Given the description of an element on the screen output the (x, y) to click on. 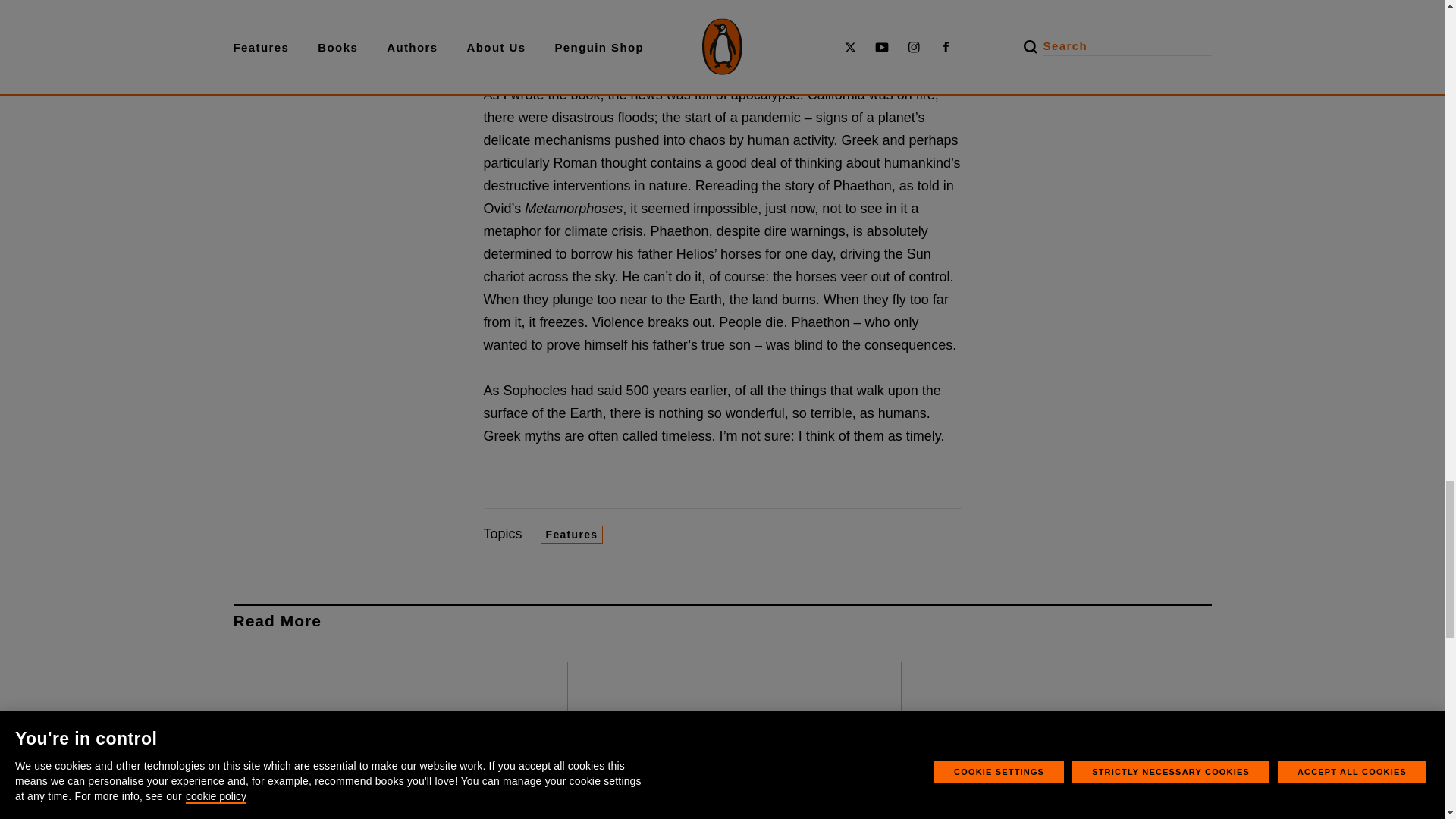
Features (572, 534)
